Given the description of an element on the screen output the (x, y) to click on. 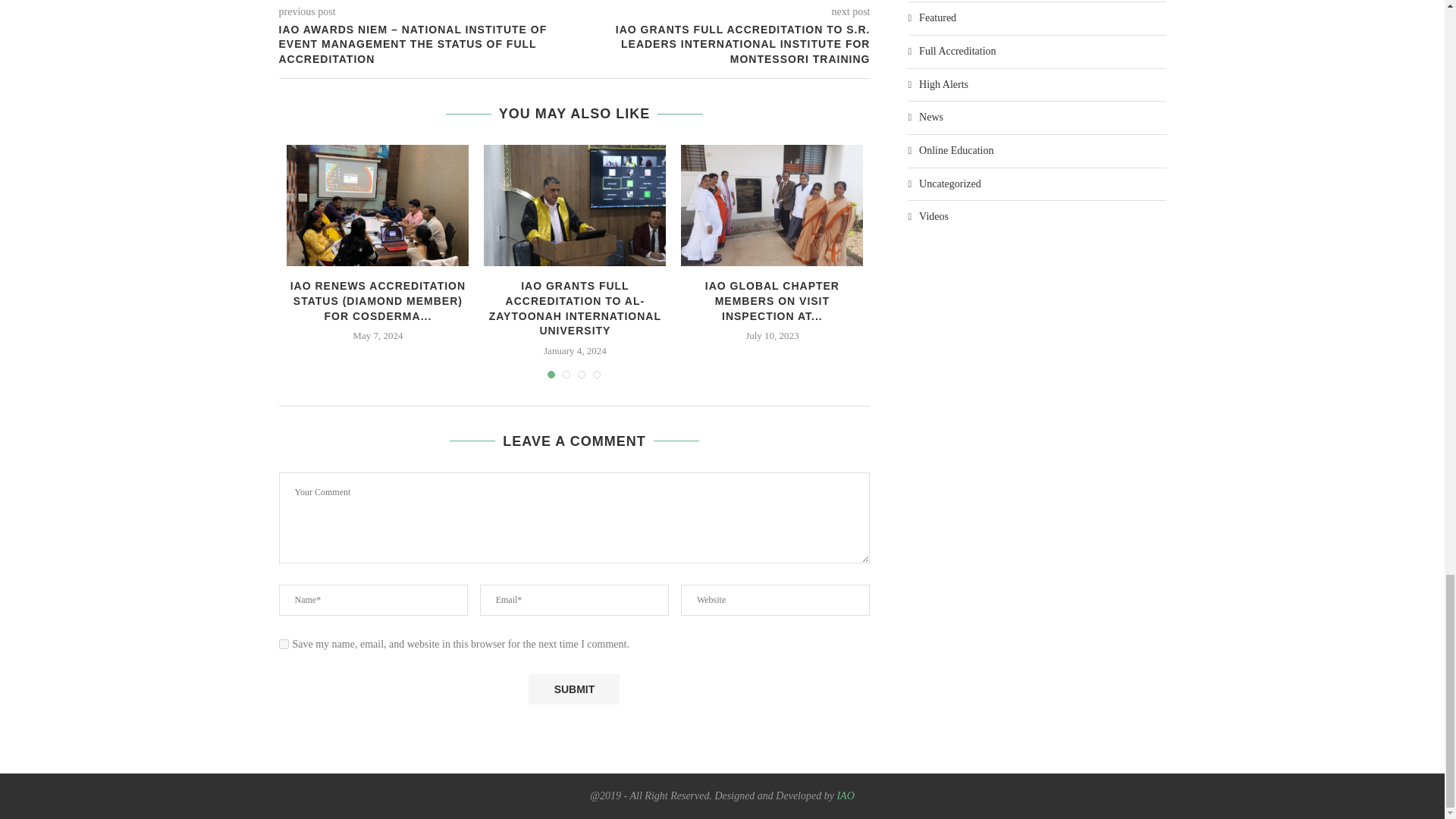
yes (283, 644)
Submit (574, 689)
